Given the description of an element on the screen output the (x, y) to click on. 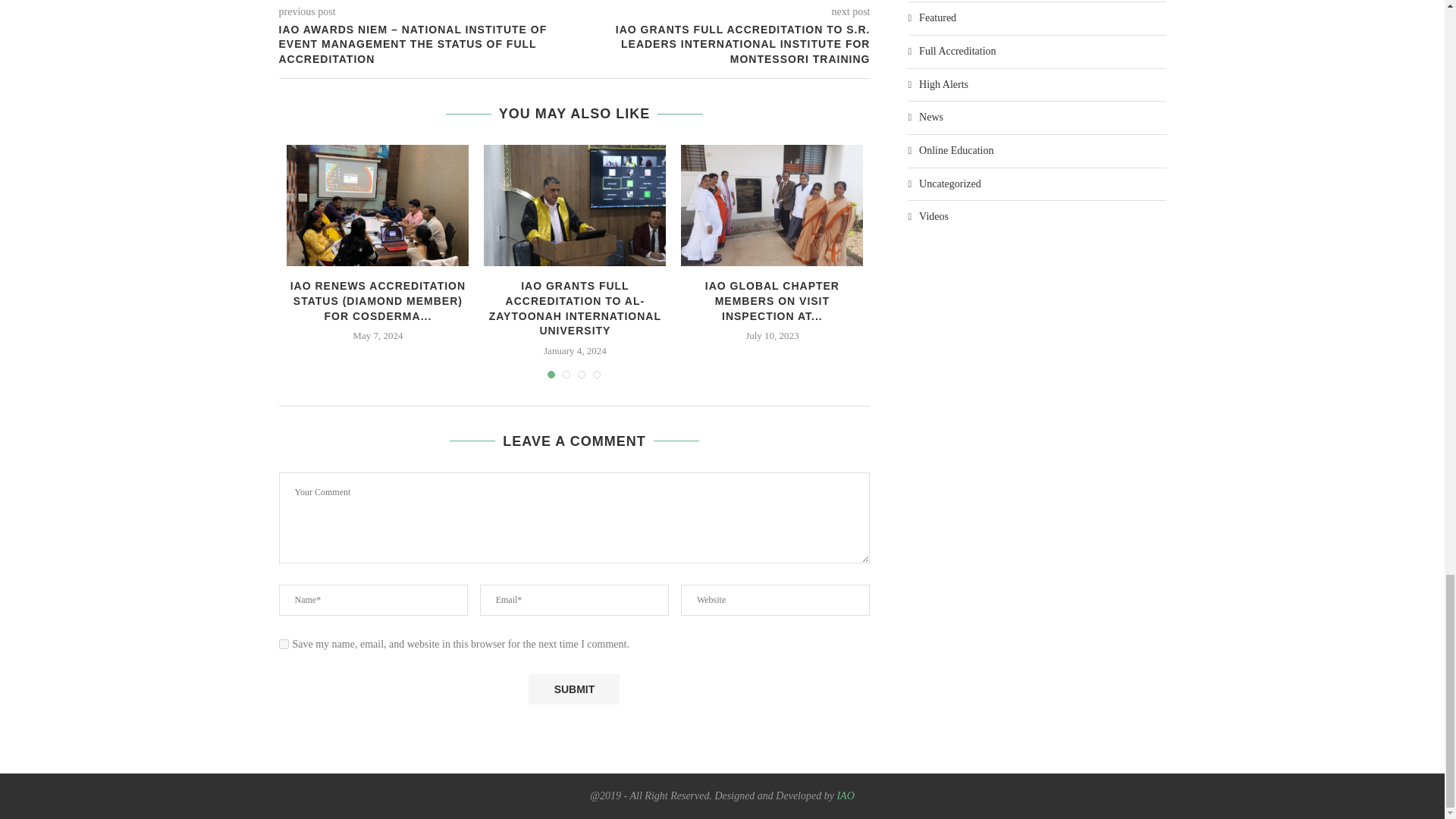
yes (283, 644)
Submit (574, 689)
